Given the description of an element on the screen output the (x, y) to click on. 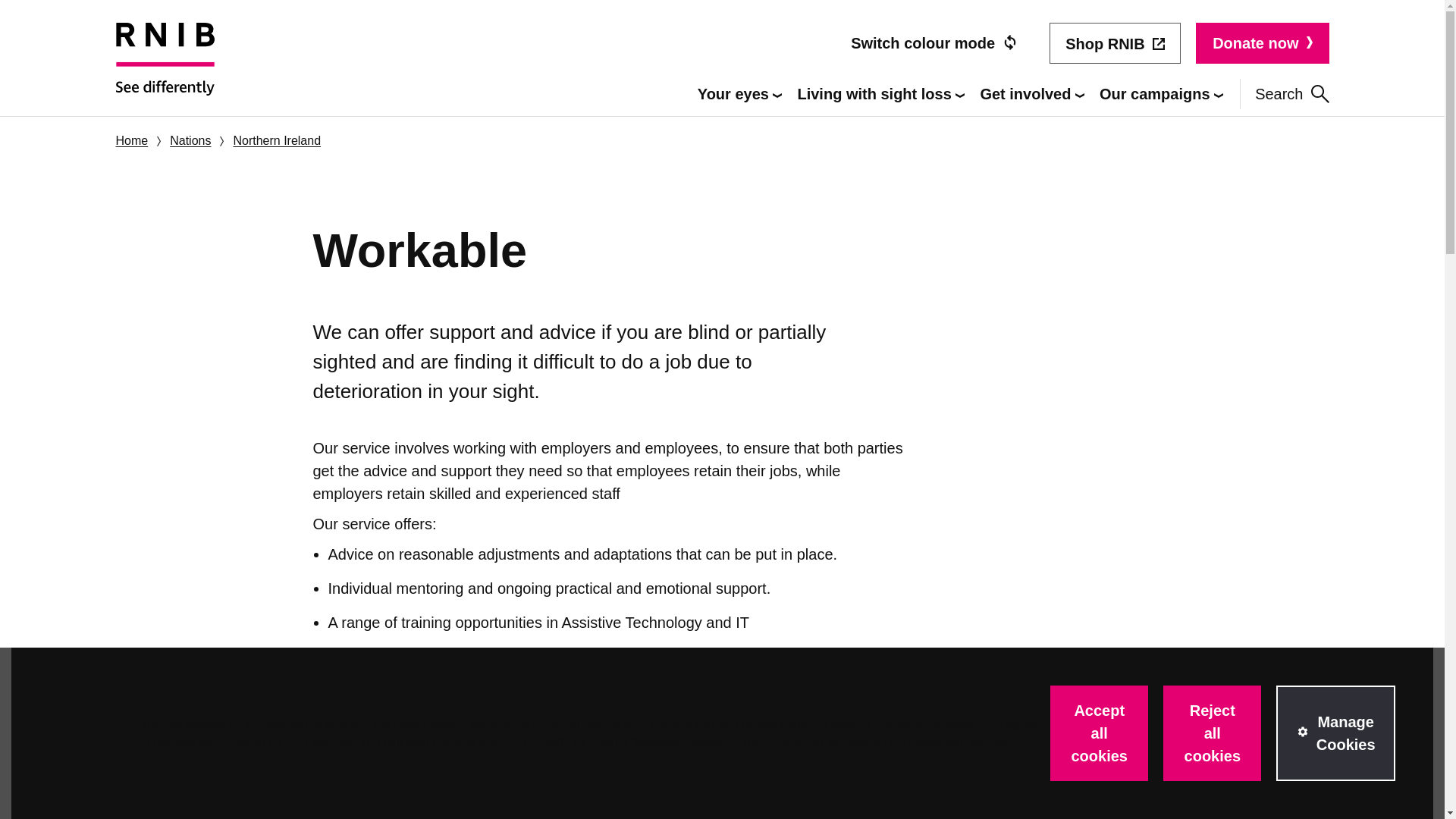
Manage Cookies (1335, 733)
Accept all cookies (1098, 733)
Switch colour mode (933, 42)
Reject all cookies (1211, 733)
Shop RNIB (1114, 42)
Donate now (1261, 42)
